Given the description of an element on the screen output the (x, y) to click on. 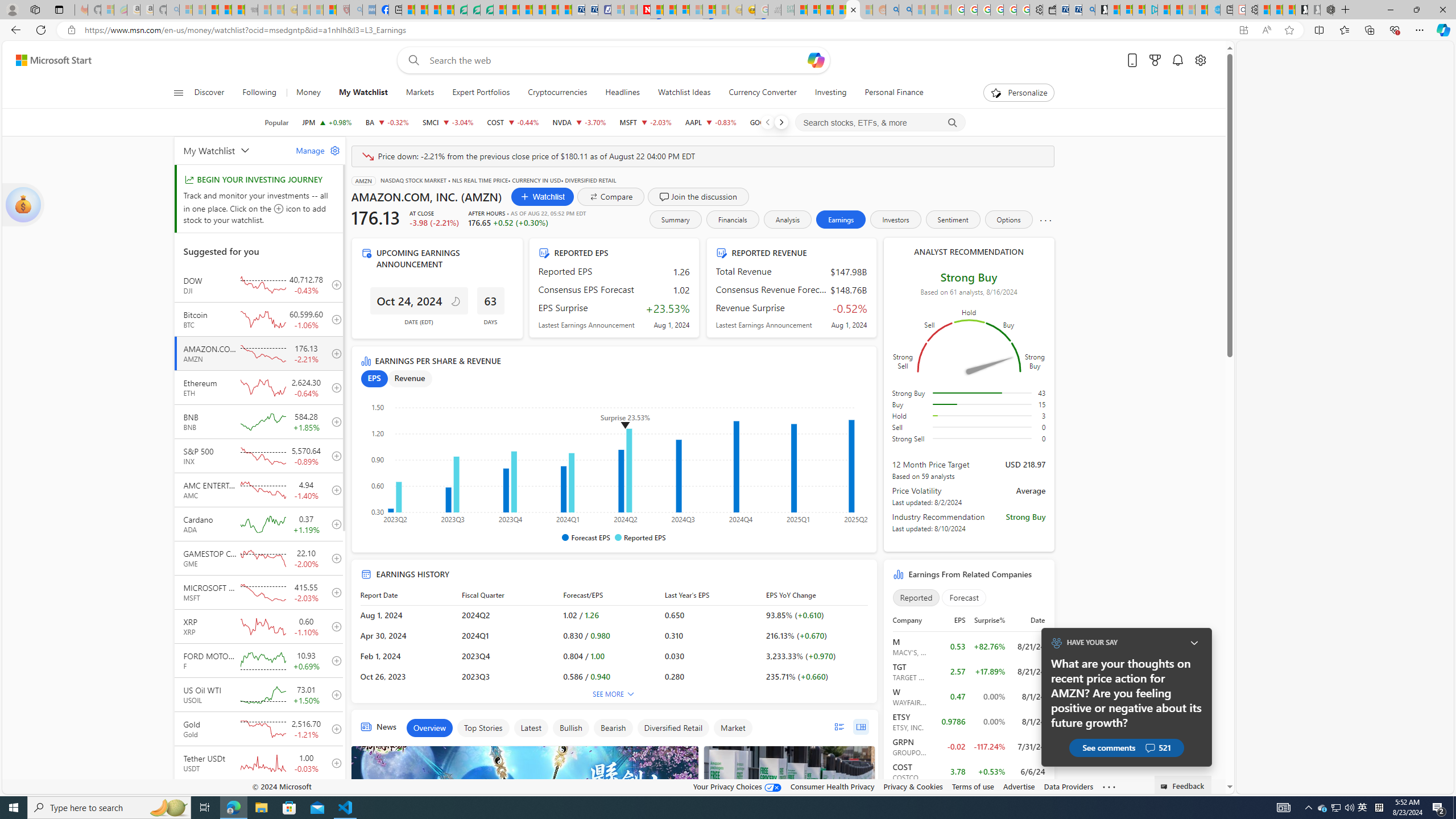
Data Providers (1068, 786)
Watchlist Ideas (684, 92)
Consumer Health Privacy (832, 785)
Open navigation menu (177, 92)
Local - MSN (329, 9)
Skip to content (49, 59)
14 Common Myths Debunked By Scientific Facts (669, 9)
